Given the description of an element on the screen output the (x, y) to click on. 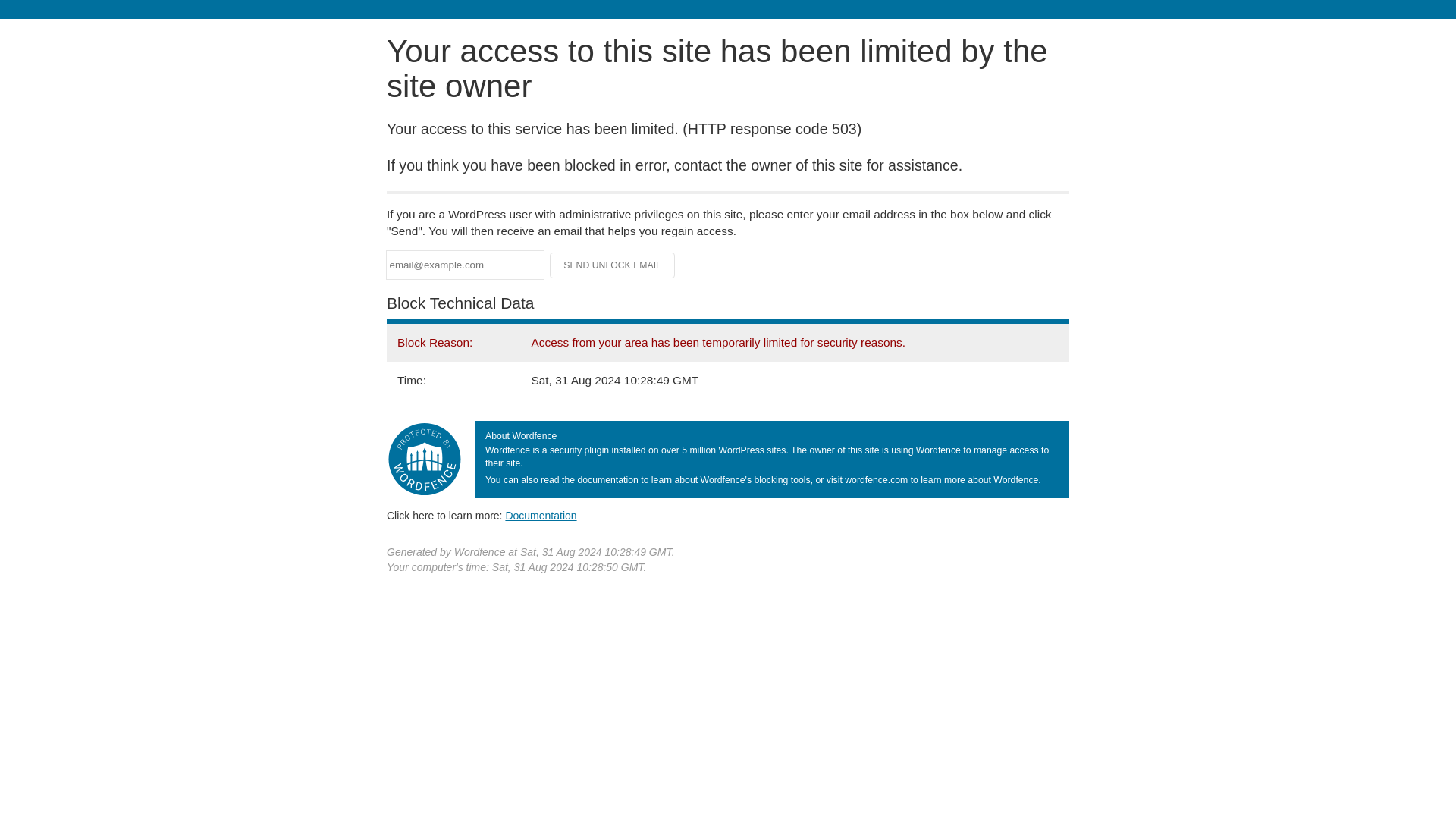
Send Unlock Email (612, 265)
Documentation (540, 515)
Send Unlock Email (612, 265)
